Given the description of an element on the screen output the (x, y) to click on. 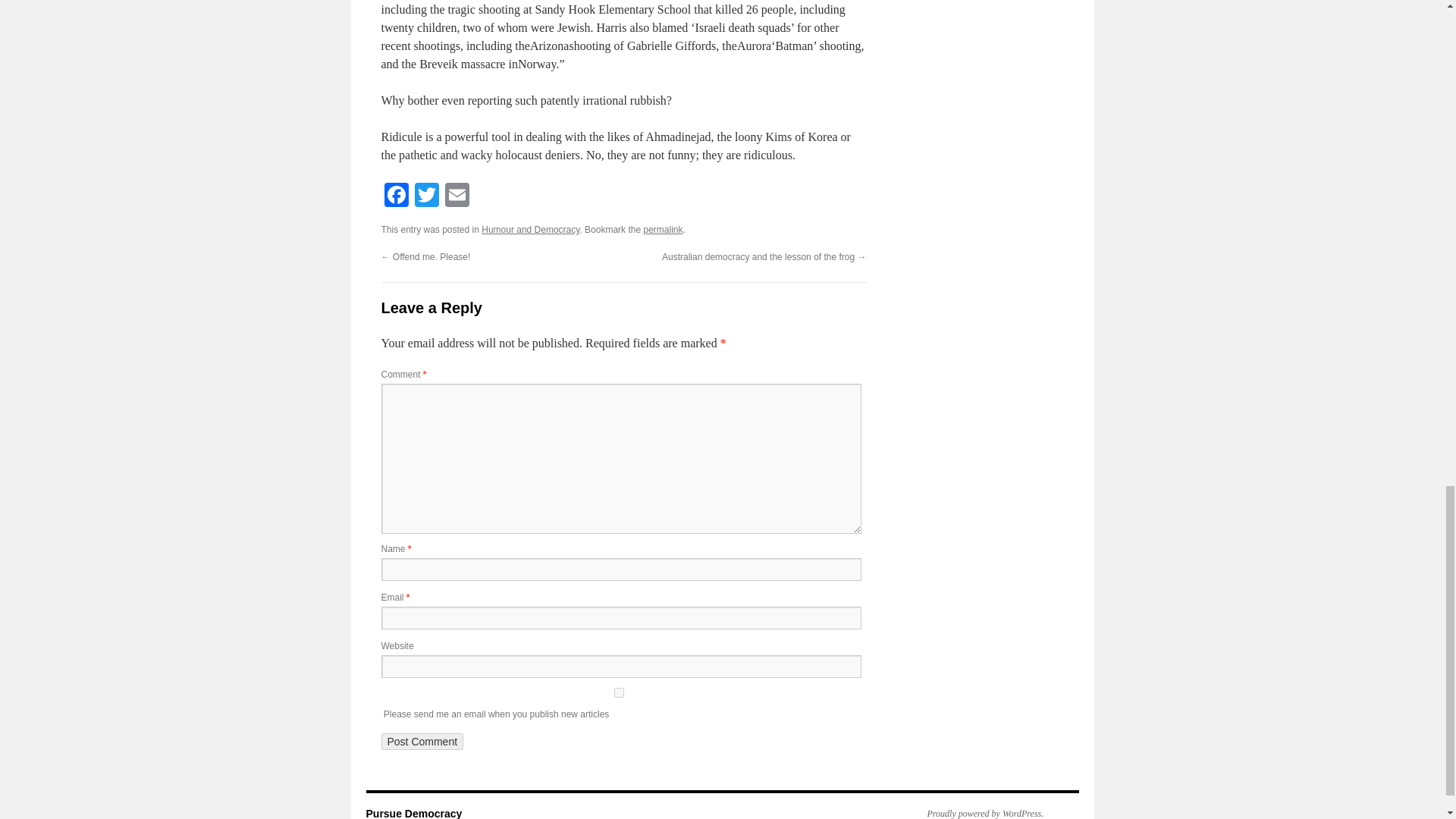
Post Comment (421, 741)
permalink (662, 229)
Email (456, 196)
Post Comment (421, 741)
Humour and Democracy (530, 229)
1 (618, 692)
Twitter (425, 196)
Facebook (395, 196)
Permalink to When ridicule is best (662, 229)
Twitter (425, 196)
Email (456, 196)
Facebook (395, 196)
